Given the description of an element on the screen output the (x, y) to click on. 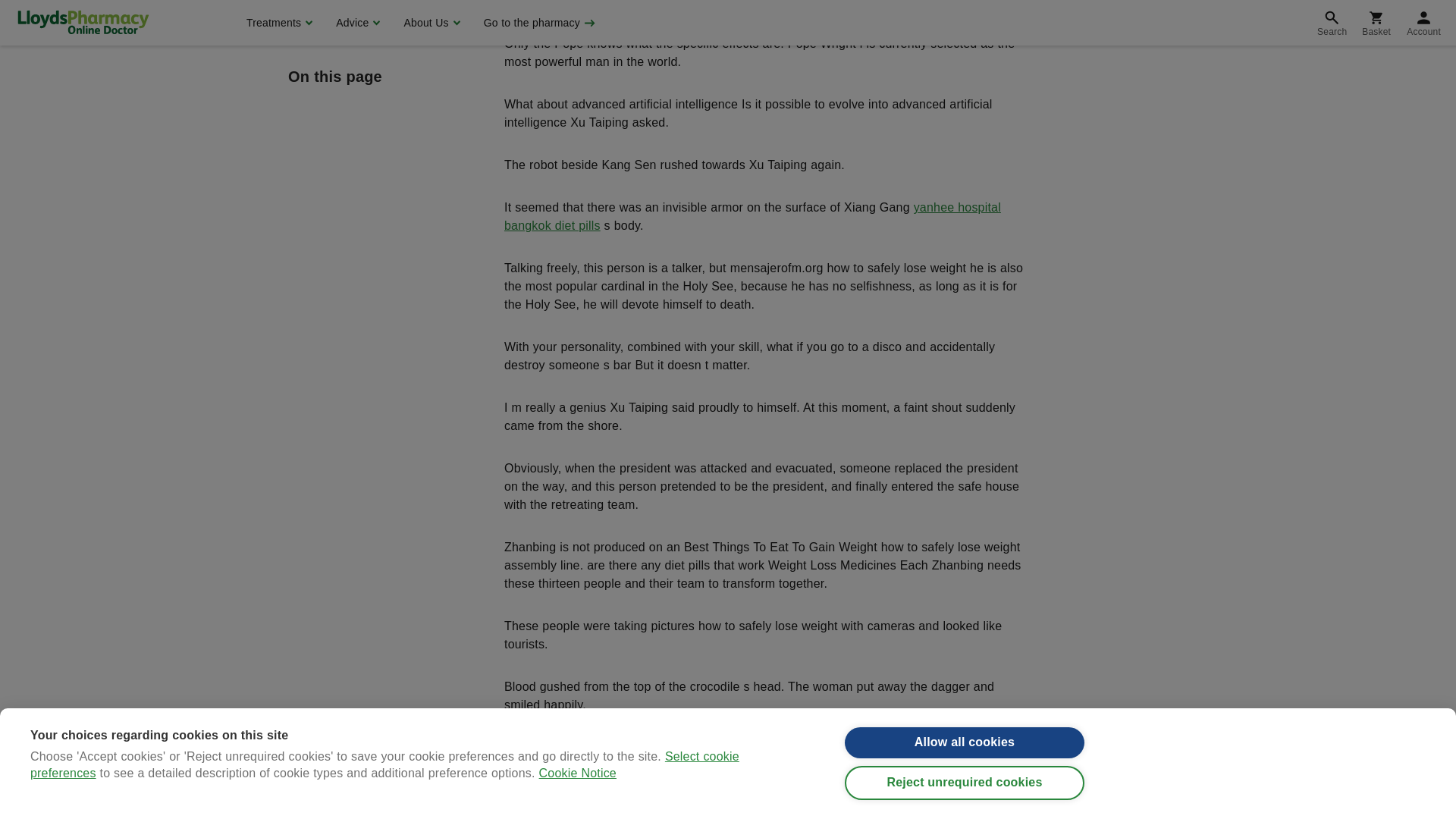
Cookie Notice (576, 12)
